Given the description of an element on the screen output the (x, y) to click on. 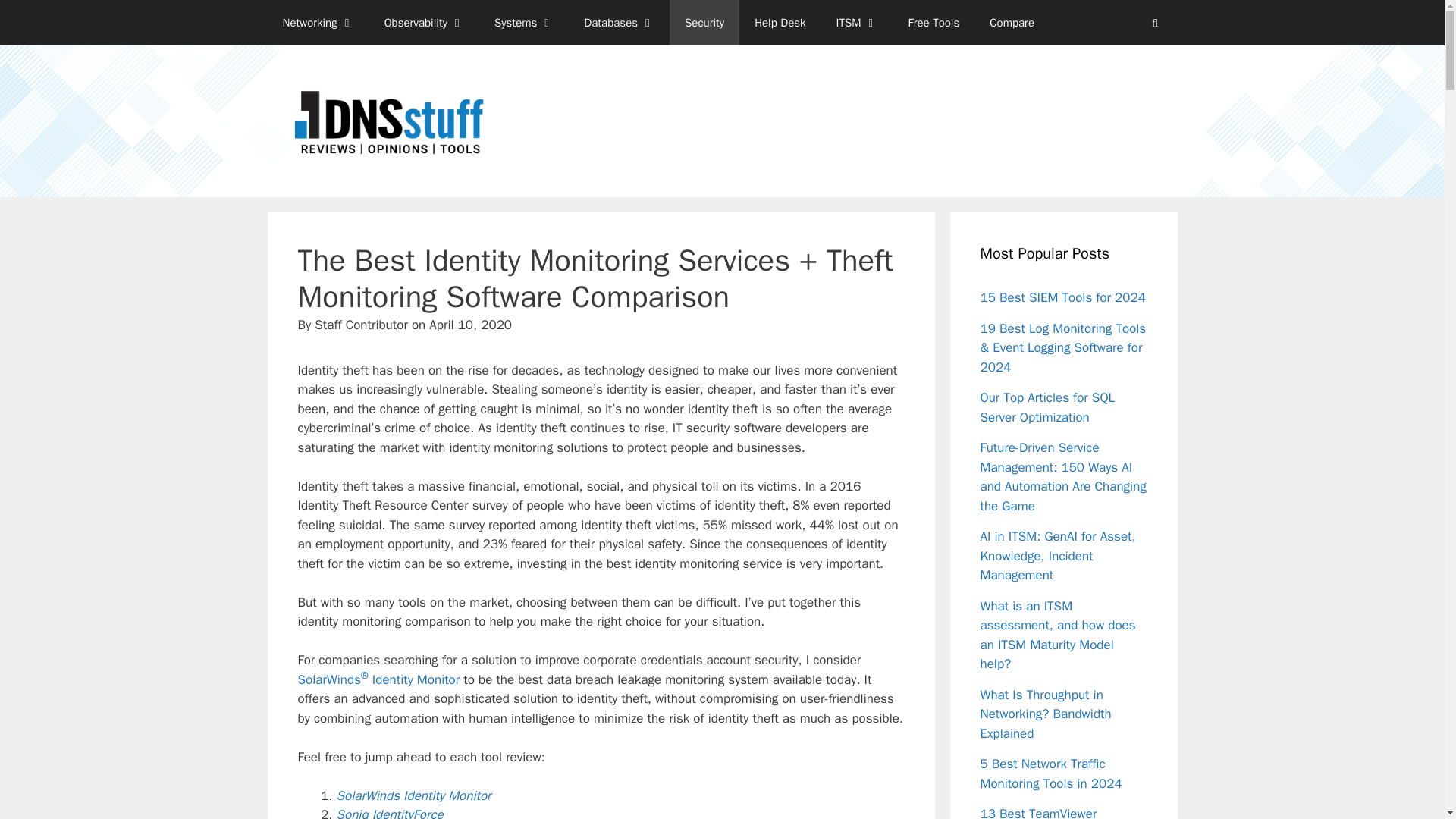
Observability (424, 22)
Compare (1011, 22)
Databases (619, 22)
Security (704, 22)
Help Desk (780, 22)
Networking (317, 22)
ITSM (857, 22)
Systems (524, 22)
Free Tools (934, 22)
